Given the description of an element on the screen output the (x, y) to click on. 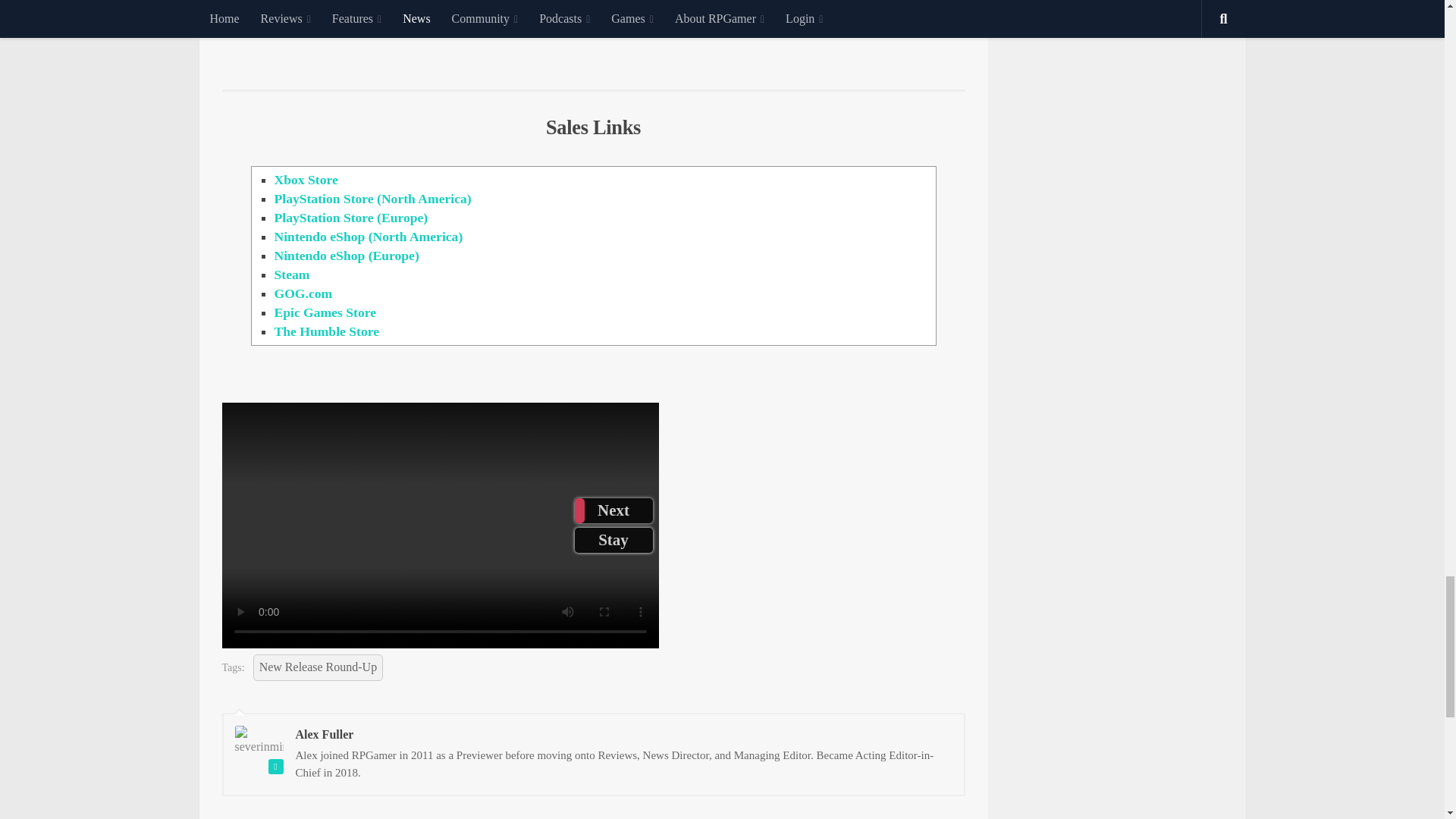
YouTube video player (592, 33)
